Given the description of an element on the screen output the (x, y) to click on. 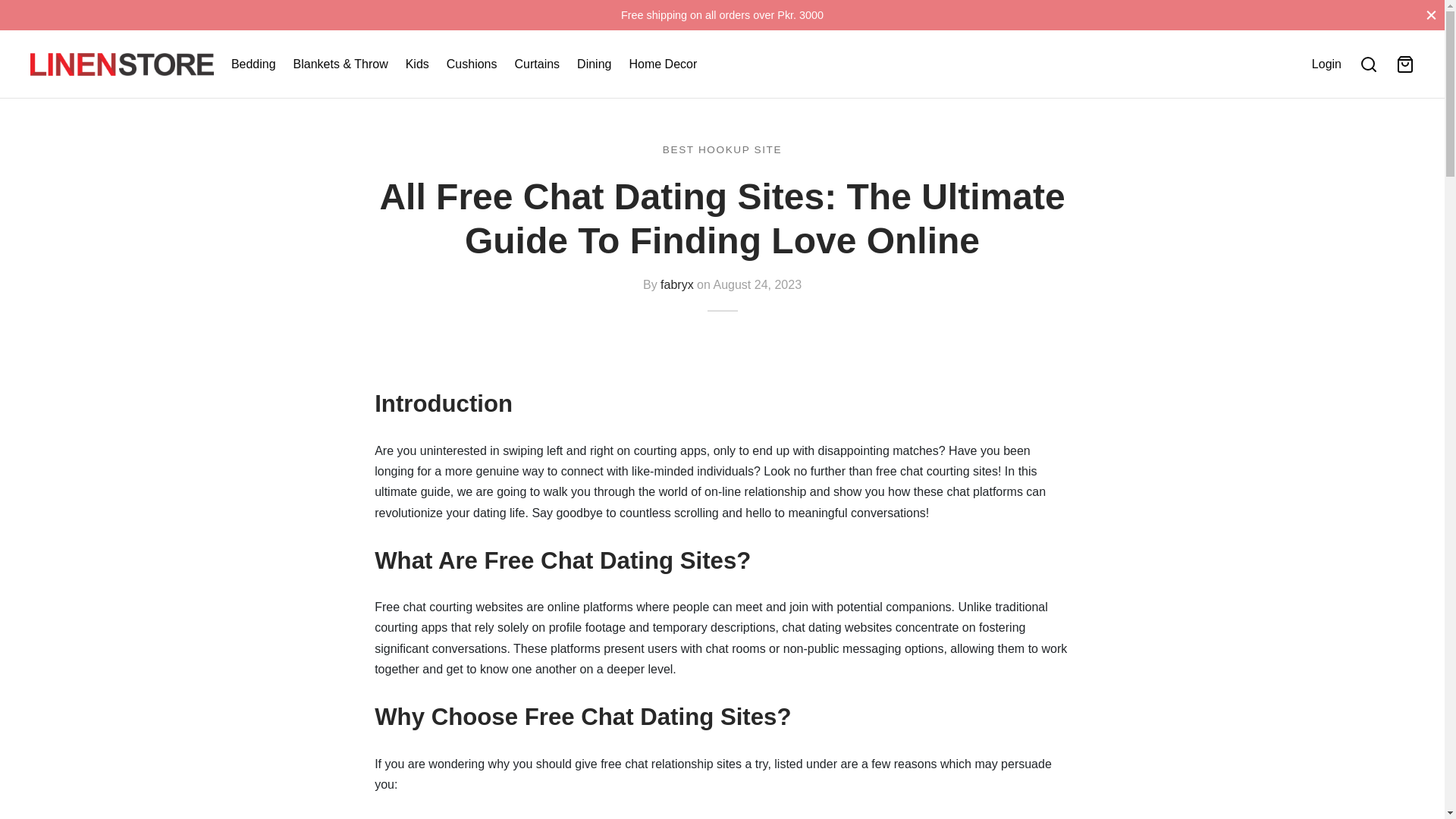
Dining (593, 64)
Cushions (471, 64)
Home Decor (662, 64)
Curtains (537, 64)
BEST HOOKUP SITE (721, 149)
fabryx (677, 284)
Login (1325, 64)
Close (1431, 14)
Bedding (253, 64)
Posts by fabryx (677, 284)
